Given the description of an element on the screen output the (x, y) to click on. 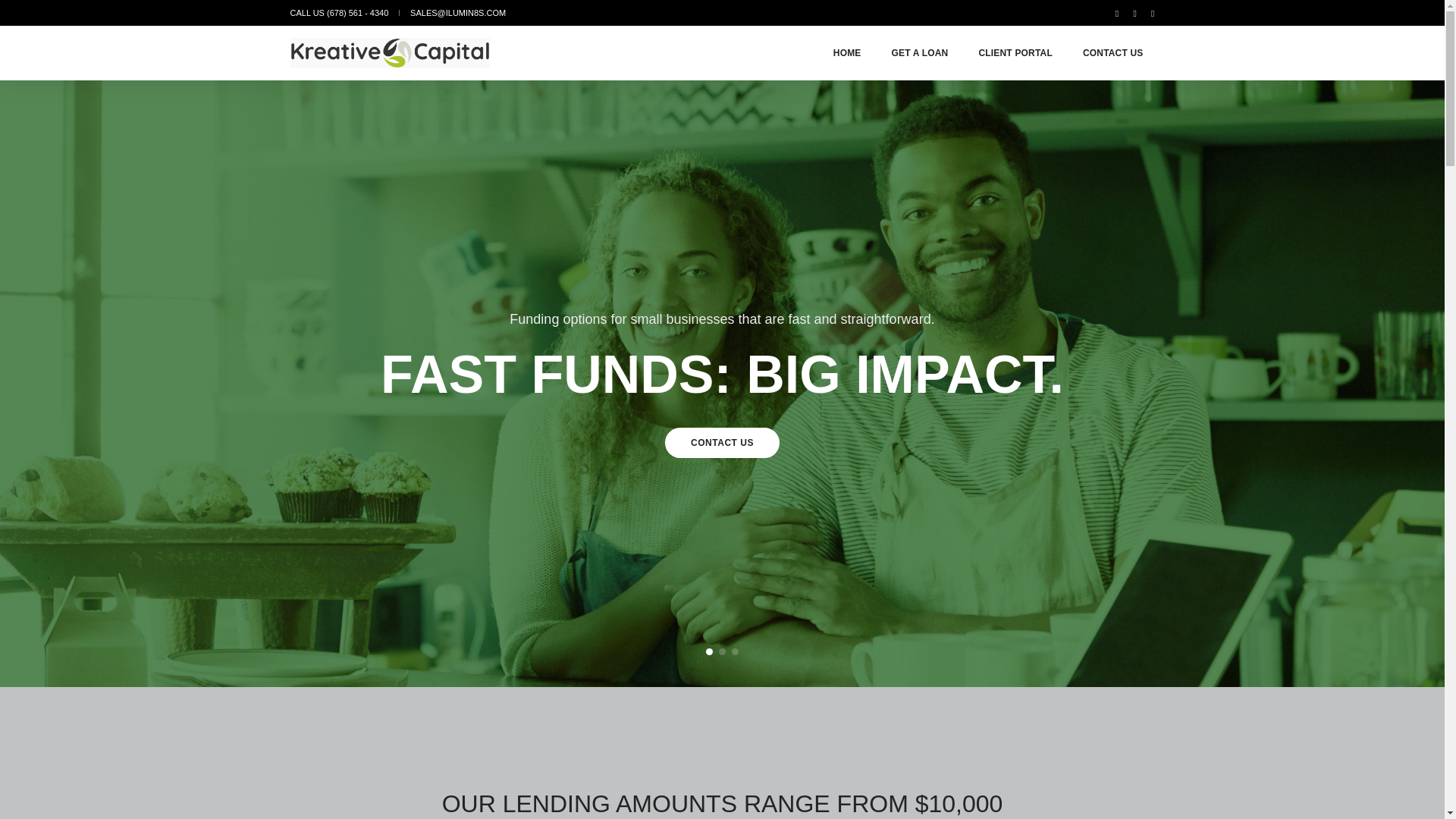
Facebook (1116, 12)
CONTACT US (721, 442)
CLIENT PORTAL (1014, 52)
Call us 678-561-4340 (338, 12)
CONTACT US (1112, 52)
Twitter (1133, 12)
Kreative Capital Global (389, 52)
GET A LOAN (920, 52)
